Given the description of an element on the screen output the (x, y) to click on. 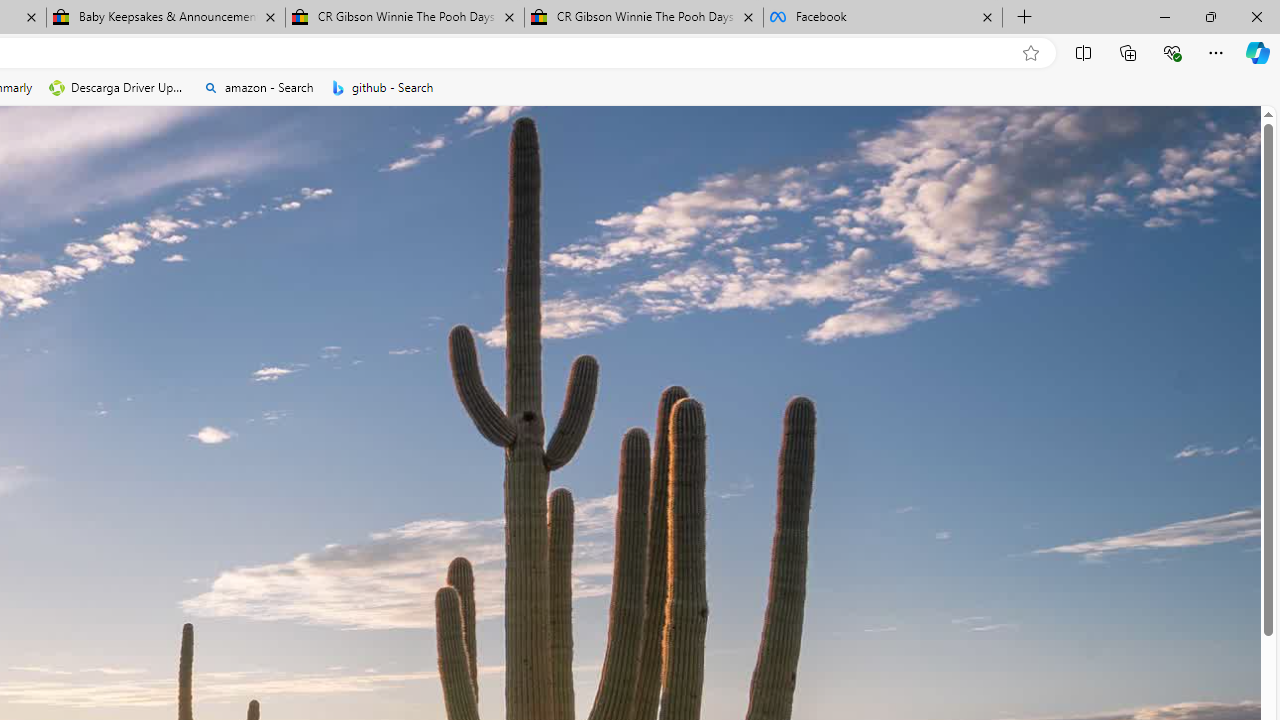
More Options (279, 179)
Class: weather-arrow-glyph (746, 367)
Partly cloudy (504, 368)
Partly cloudy (504, 368)
